Given the description of an element on the screen output the (x, y) to click on. 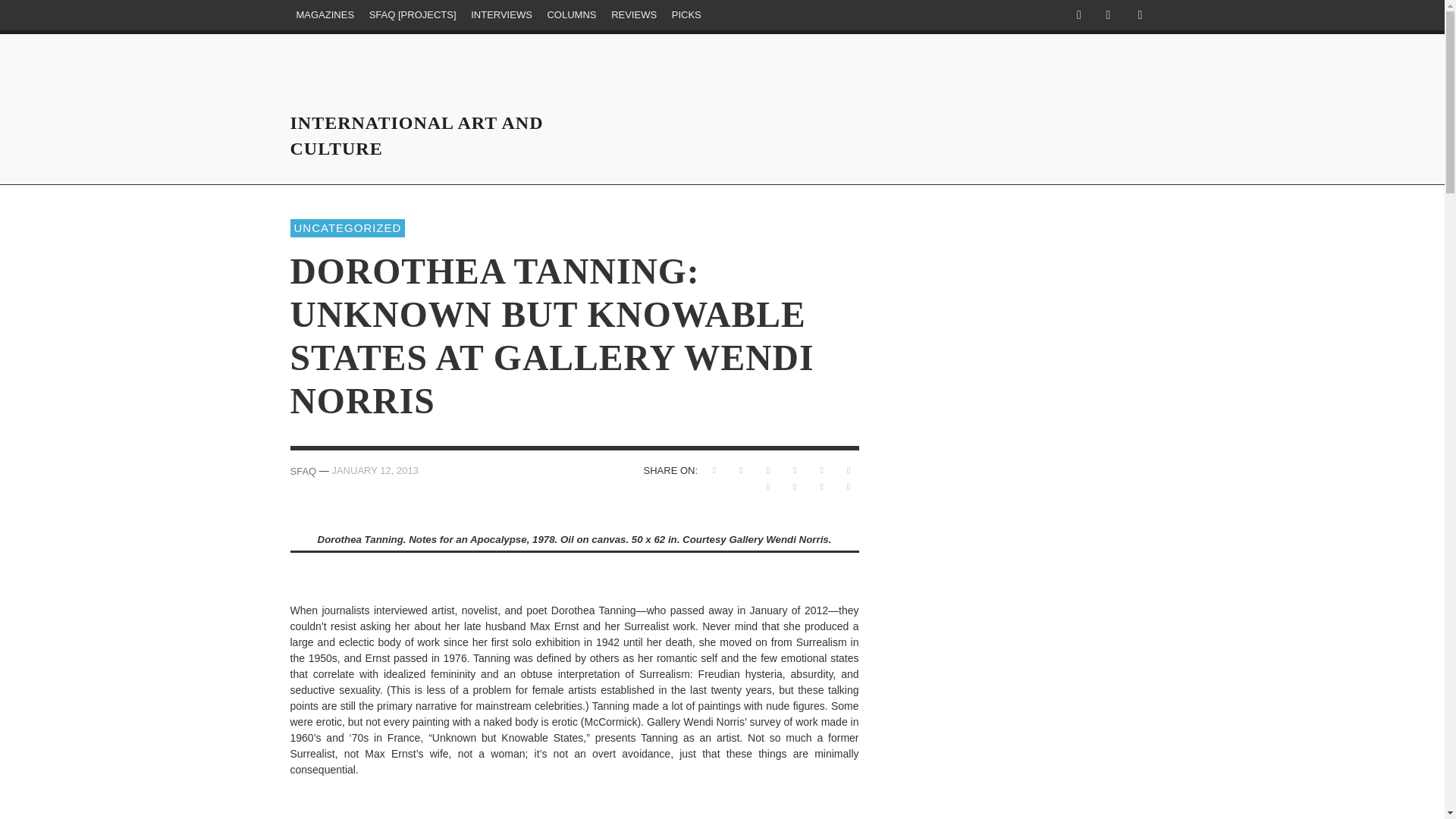
COLUMNS (571, 15)
INTERVIEWS (501, 15)
Facebook (1078, 15)
REVIEWS (633, 15)
MAGAZINES (324, 15)
Twitter (1107, 15)
